Given the description of an element on the screen output the (x, y) to click on. 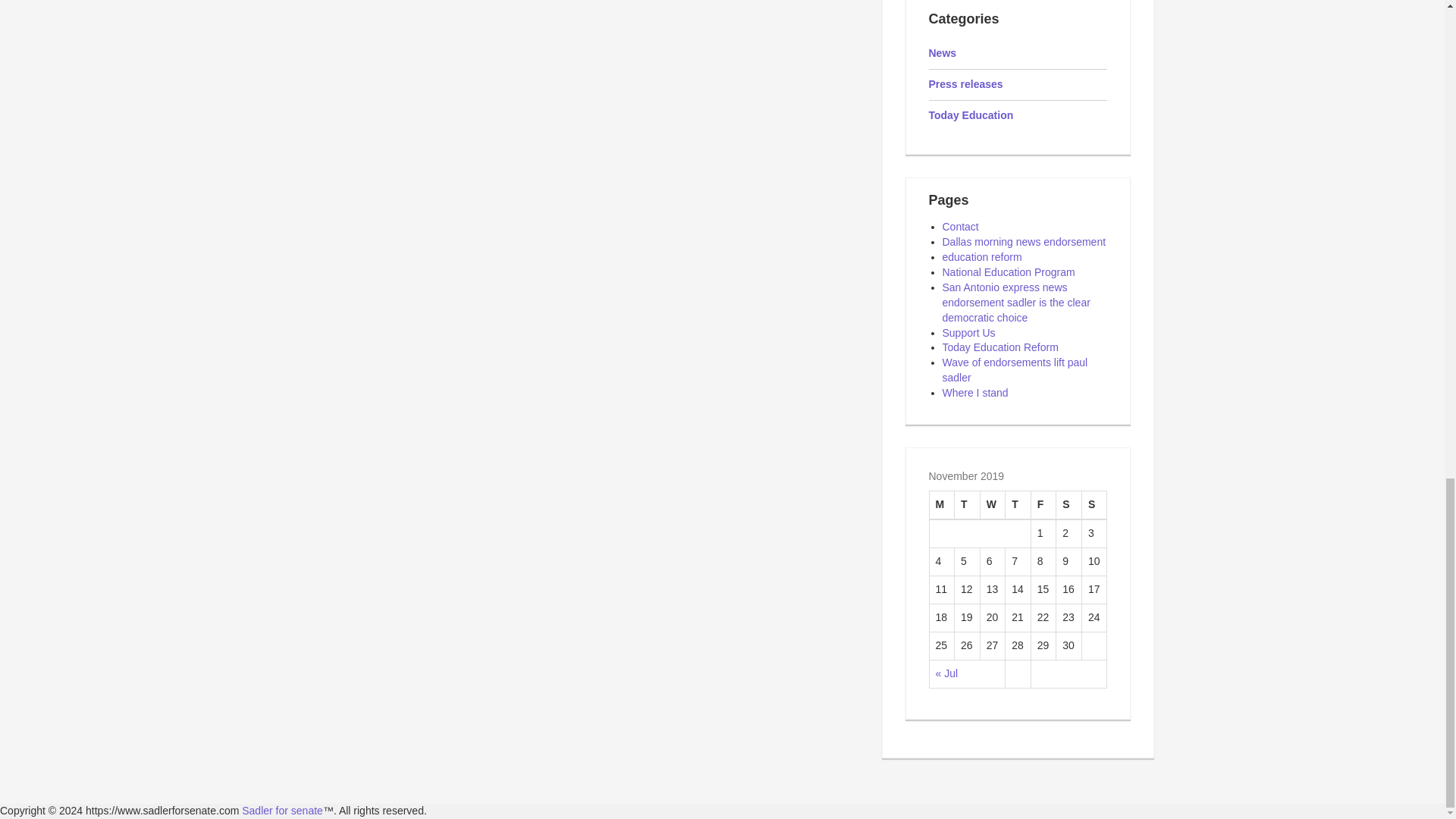
Saturday (1069, 505)
Thursday (1018, 505)
Wednesday (992, 505)
Sunday (1093, 505)
Tuesday (967, 505)
Friday (1043, 505)
Monday (941, 505)
